Given the description of an element on the screen output the (x, y) to click on. 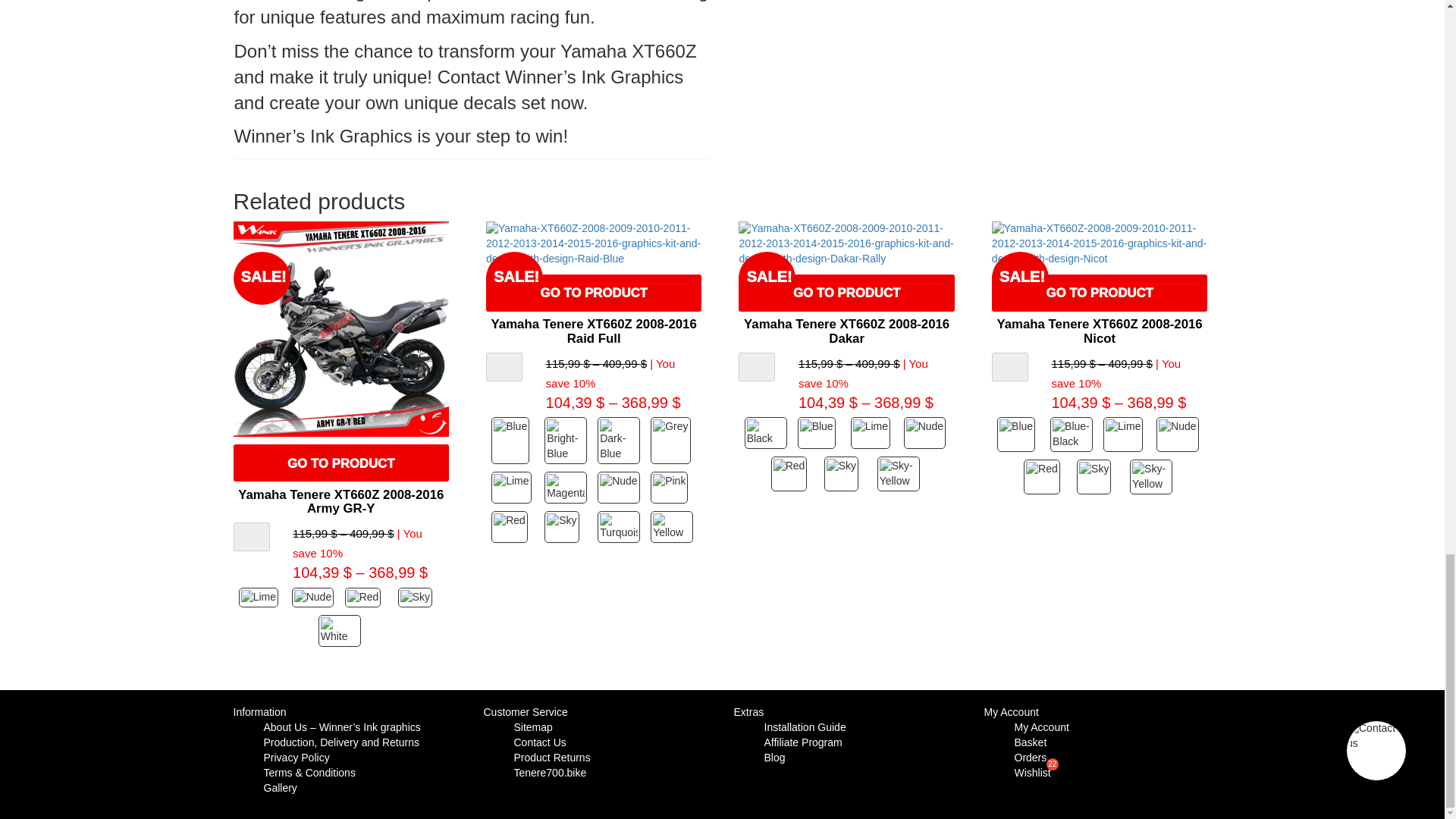
Red (367, 597)
Lime (260, 597)
Bright-Blue (566, 440)
GO TO PRODUCT (340, 462)
Blue (514, 440)
Dark-Blue (619, 440)
Sky (420, 597)
White (341, 631)
Nude (314, 597)
Grey (672, 440)
